Given the description of an element on the screen output the (x, y) to click on. 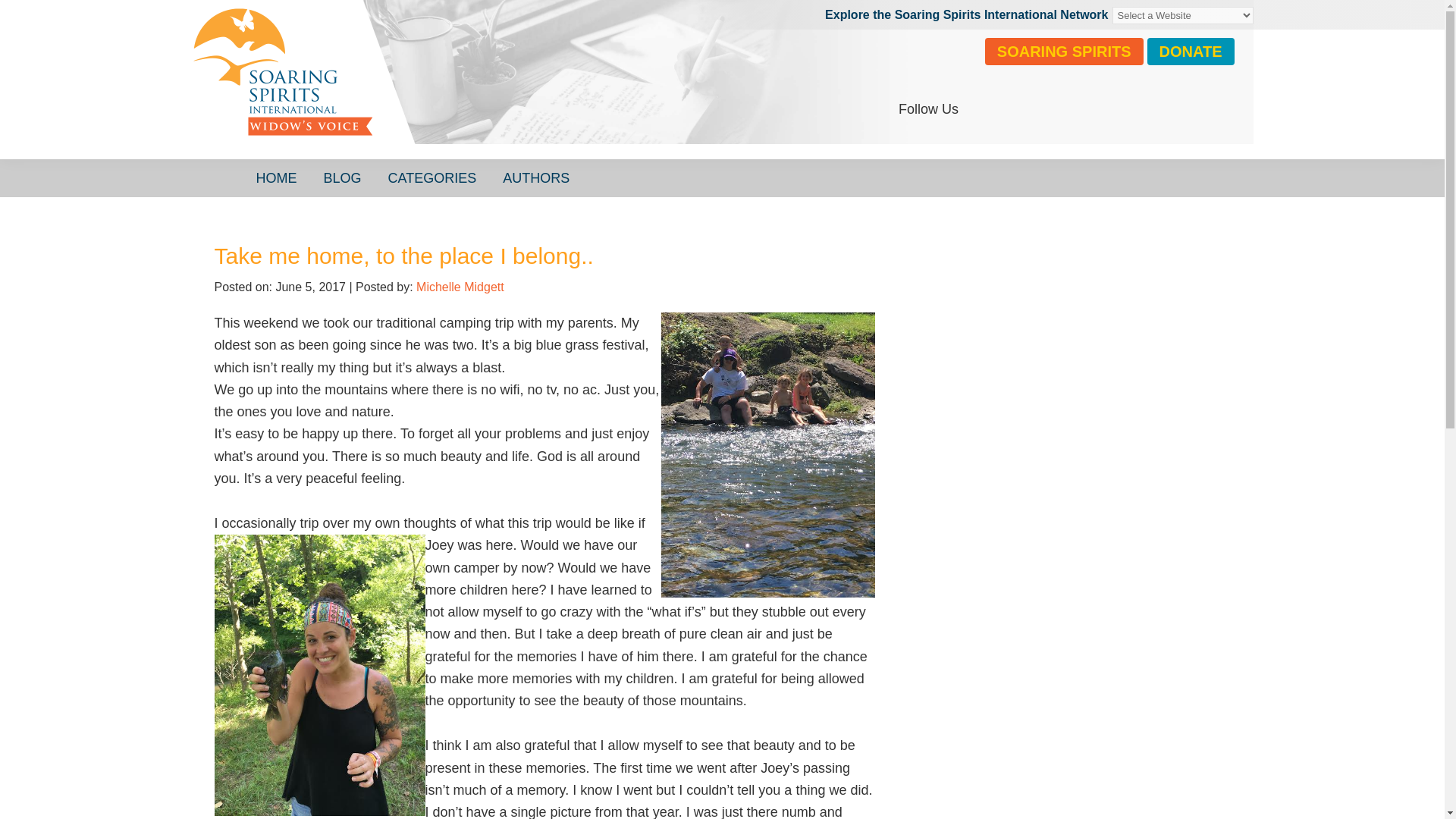
Instagram (1019, 109)
CATEGORIES (432, 177)
BLOG (342, 177)
SOARING SPIRITS (1063, 51)
AUTHORS (536, 177)
HOME (275, 177)
Homepage (418, 87)
YouTube (1056, 109)
Widow's Voice (418, 87)
